Given the description of an element on the screen output the (x, y) to click on. 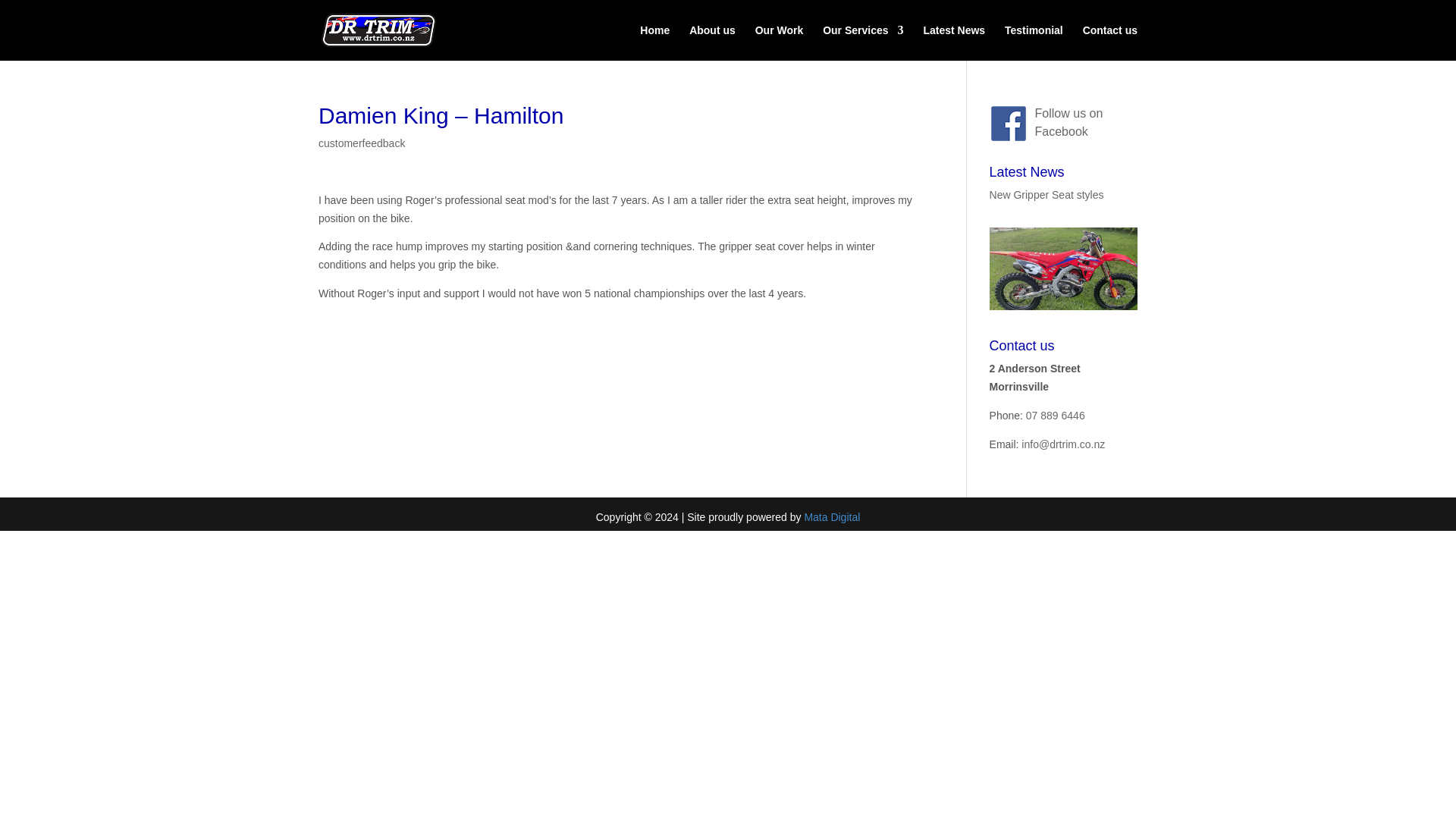
Mata Digital (831, 517)
Our Work (779, 42)
customerfeedback (361, 143)
Contact us (1110, 42)
Follow us on Facebook (1069, 122)
Our Services (862, 42)
Latest News (954, 42)
07 889 6446 (1055, 415)
About us (711, 42)
Testimonial (1033, 42)
New Gripper Seat styles (1046, 194)
